Given the description of an element on the screen output the (x, y) to click on. 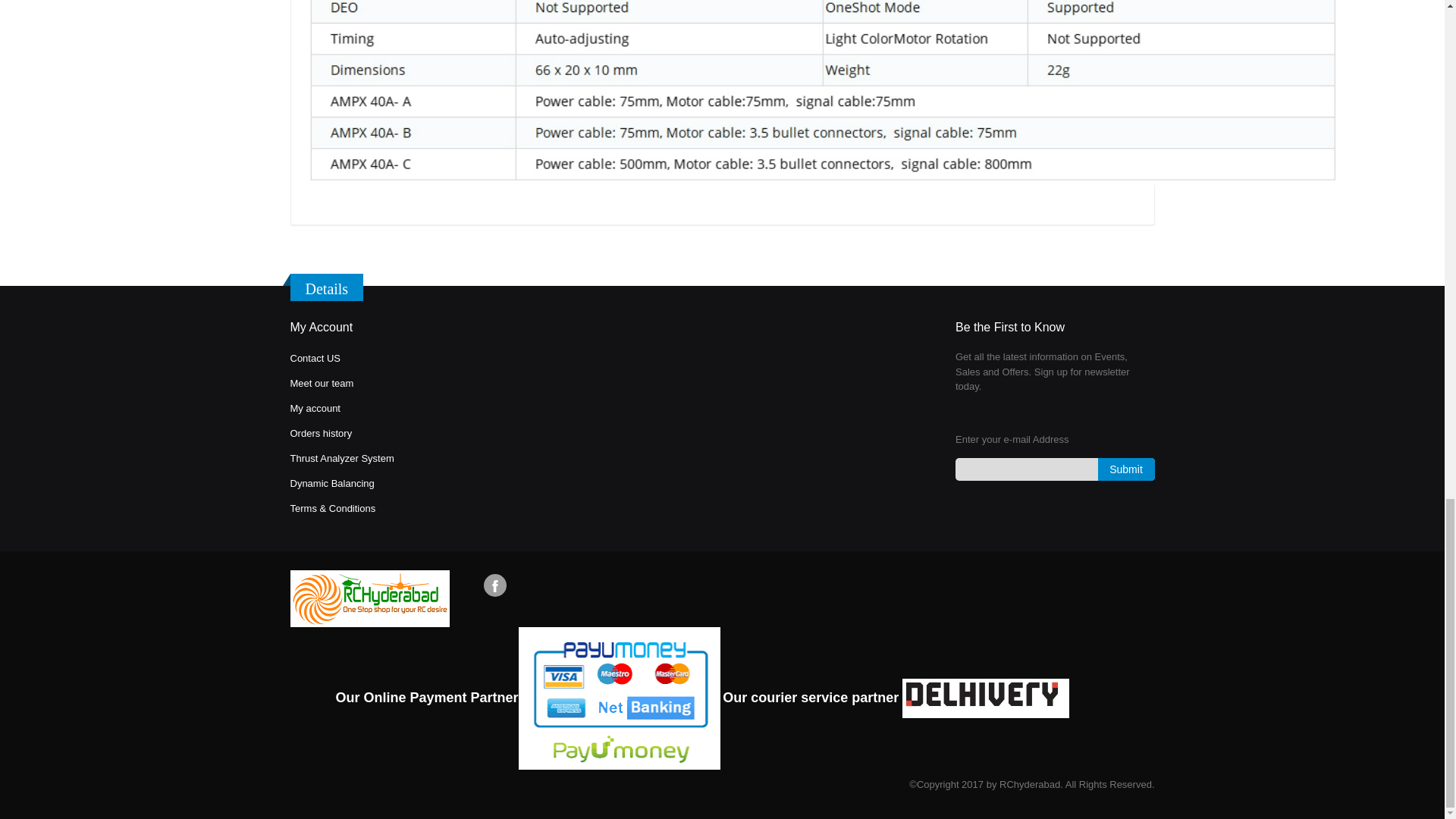
Meet our Team (321, 383)
Orders history (320, 432)
Submit (1125, 468)
3D Modelling Designing Hyderabad (332, 508)
My account (314, 408)
Sign up for our newsletter (1054, 468)
Facebook (494, 585)
About us (314, 357)
